Given the description of an element on the screen output the (x, y) to click on. 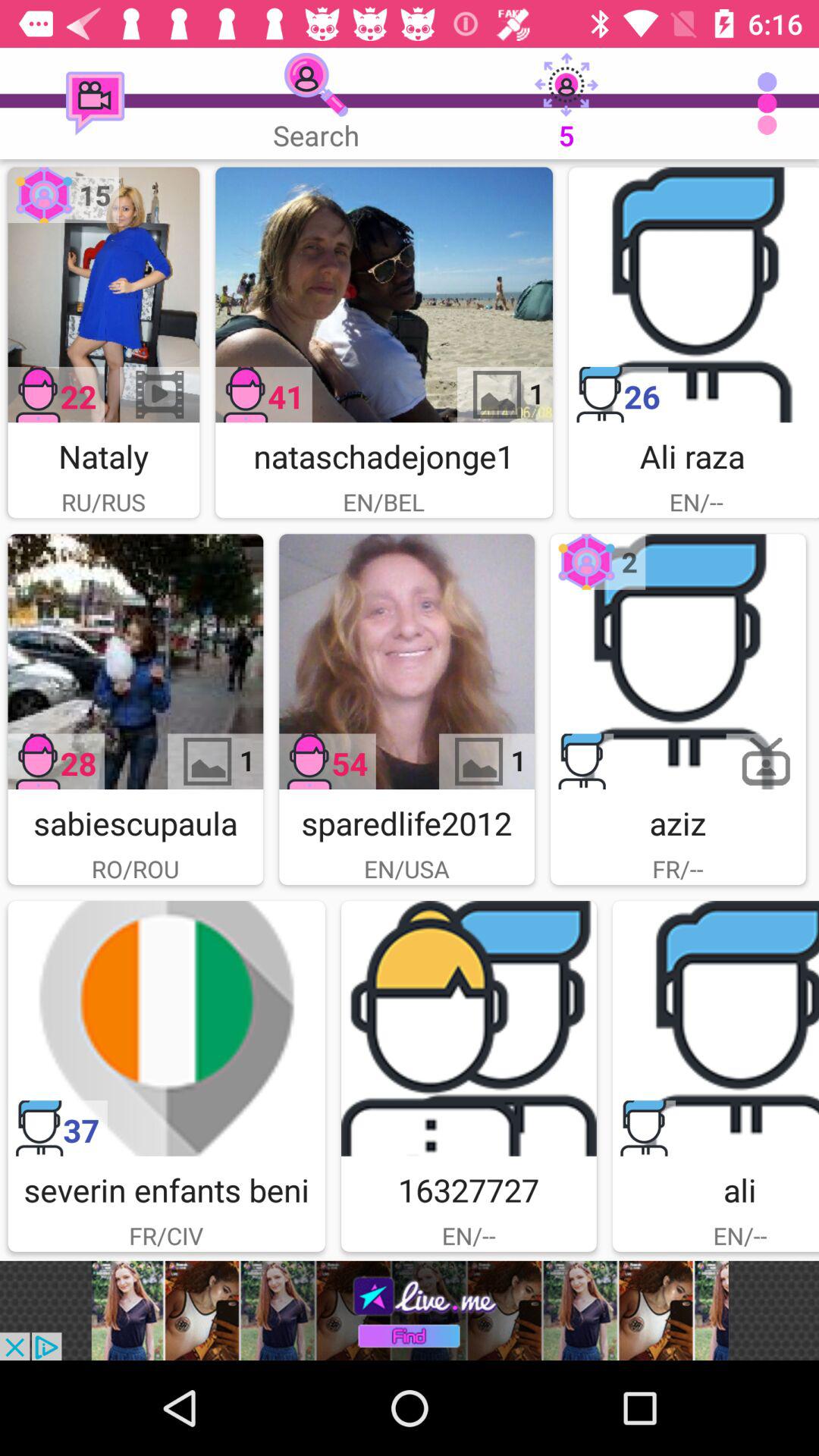
see ali raza 's profile (693, 294)
